Given the description of an element on the screen output the (x, y) to click on. 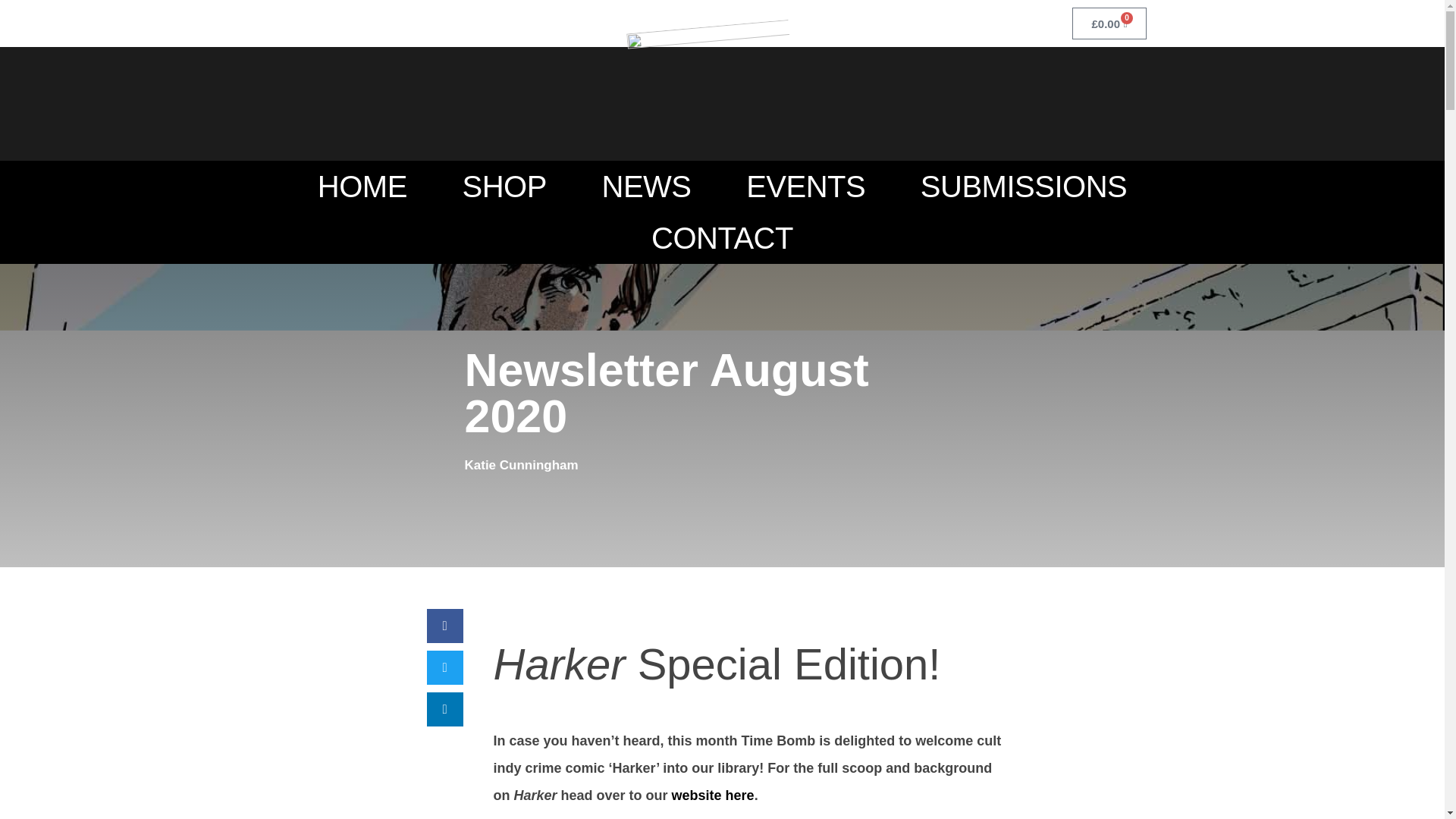
HOME (361, 186)
website here (712, 795)
NEWS (646, 186)
SUBMISSIONS (1023, 186)
EVENTS (806, 186)
SHOP (503, 186)
CONTACT (721, 237)
